Given the description of an element on the screen output the (x, y) to click on. 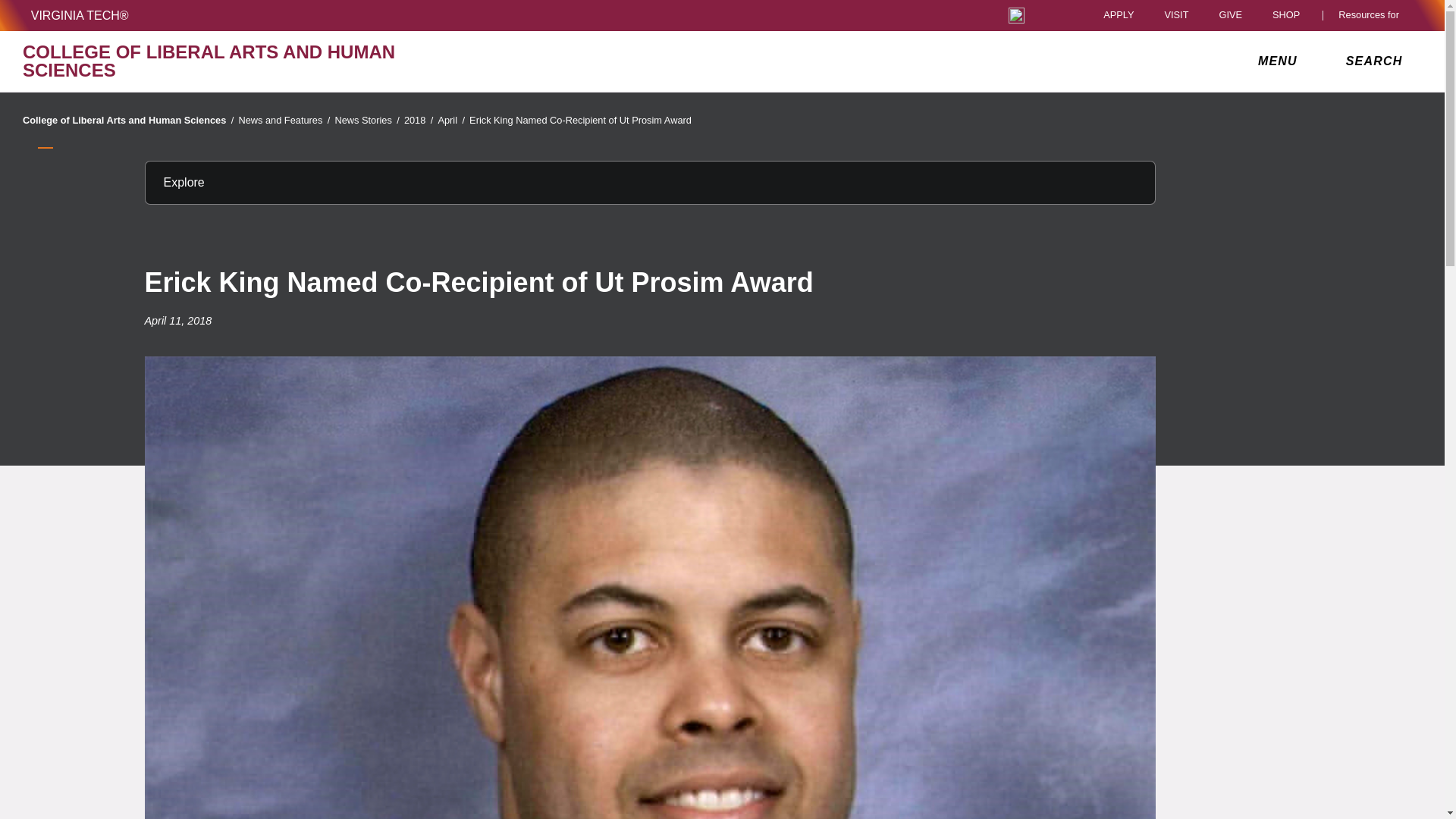
COLLEGE OF LIBERAL ARTS AND HUMAN SCIENCES (250, 60)
GIVE (1229, 15)
APPLY (1118, 15)
SHOP (1289, 15)
MENU (1280, 61)
Universal Access Toggle (1017, 15)
Resources for (1372, 15)
VISIT (1175, 15)
